Given the description of an element on the screen output the (x, y) to click on. 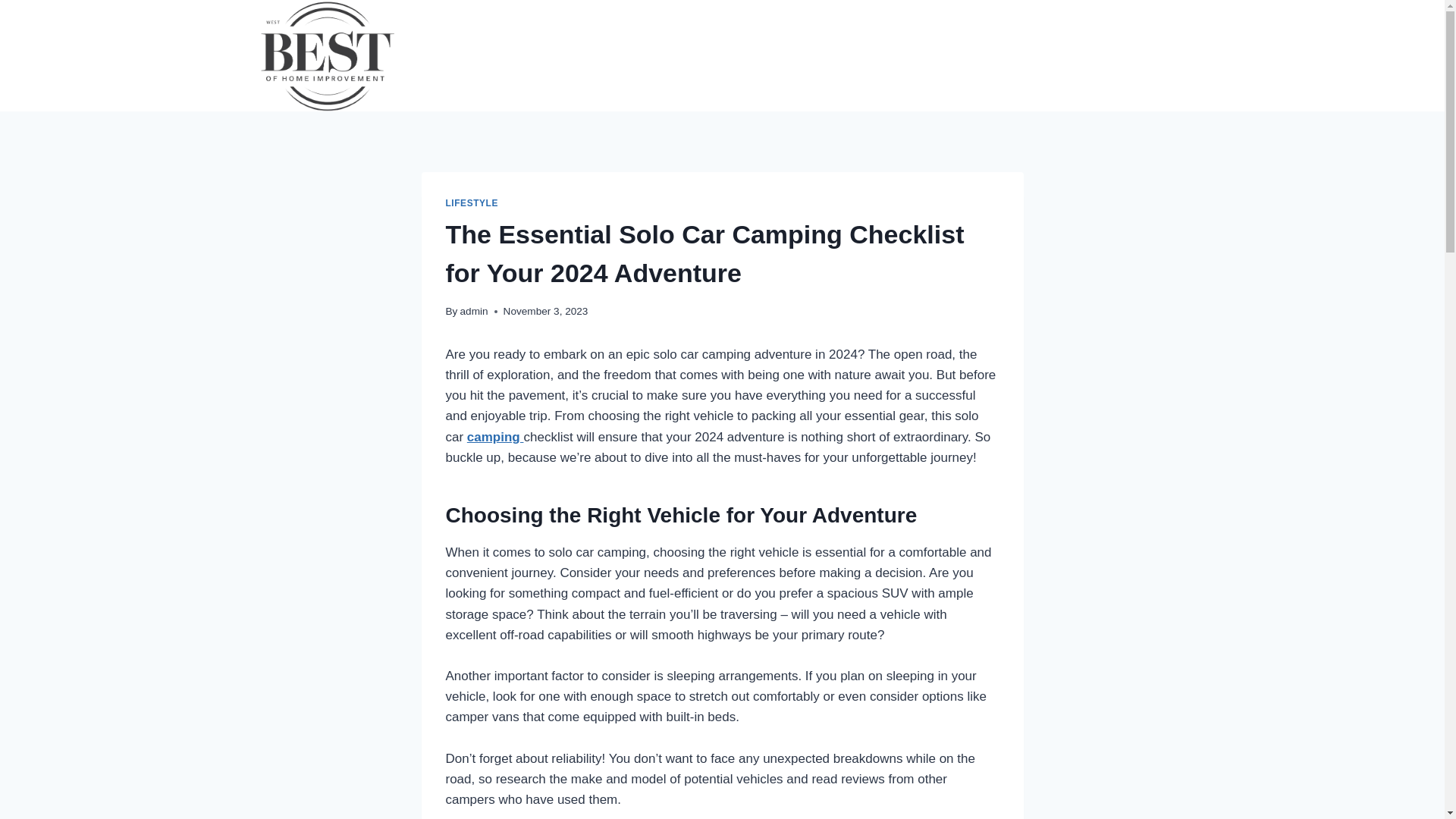
LIFESTYLE (471, 203)
admin (473, 310)
camping (495, 436)
